Given the description of an element on the screen output the (x, y) to click on. 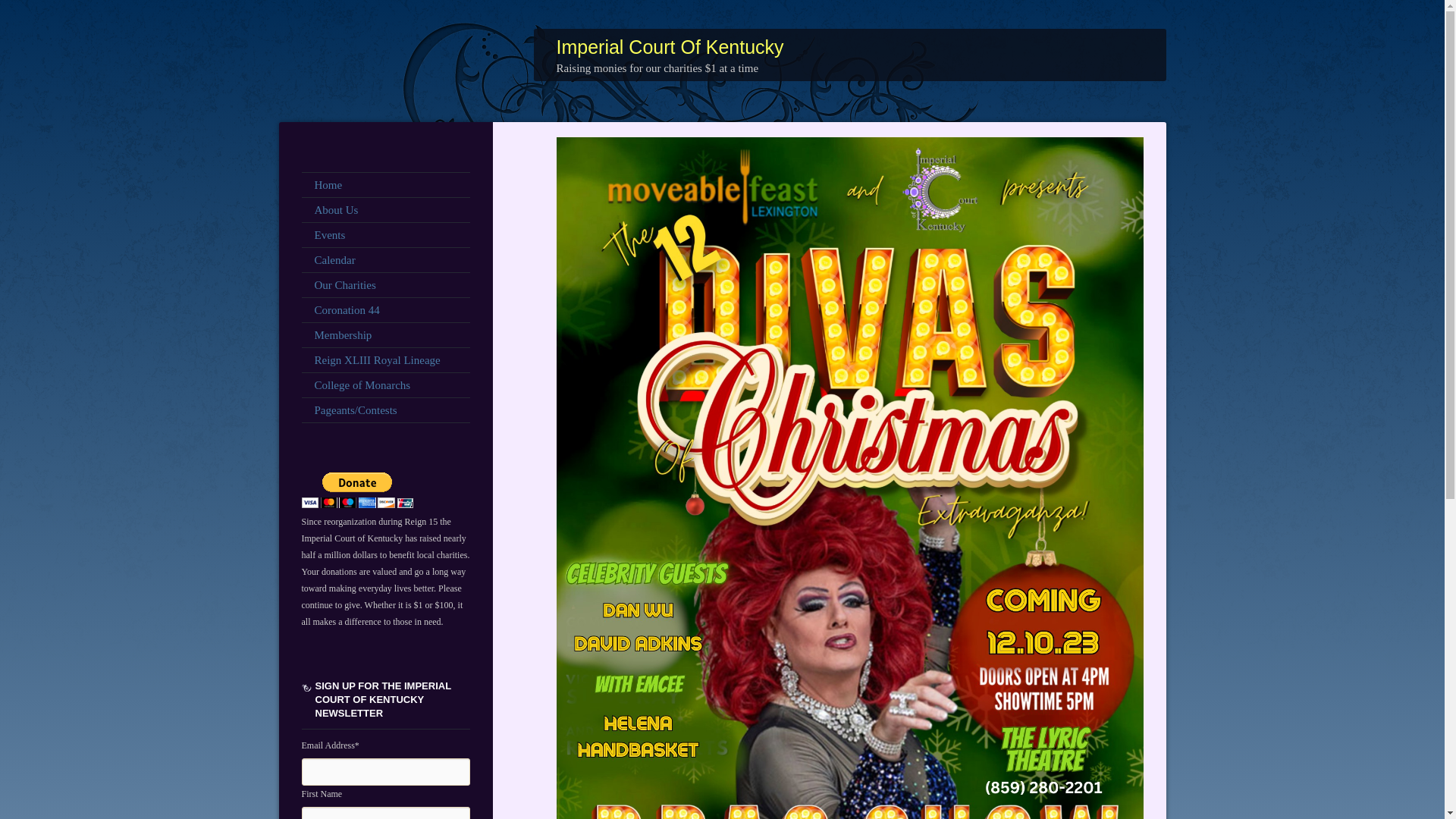
Home (385, 184)
Coronation 44 (385, 309)
Our Charities (385, 284)
Reign XLIII Royal Lineage (385, 359)
College of Monarchs (385, 385)
Events (385, 234)
Membership (385, 334)
About Us (385, 209)
Imperial Court Of Kentucky (670, 46)
Imperial Court Of Kentucky (670, 46)
